Given the description of an element on the screen output the (x, y) to click on. 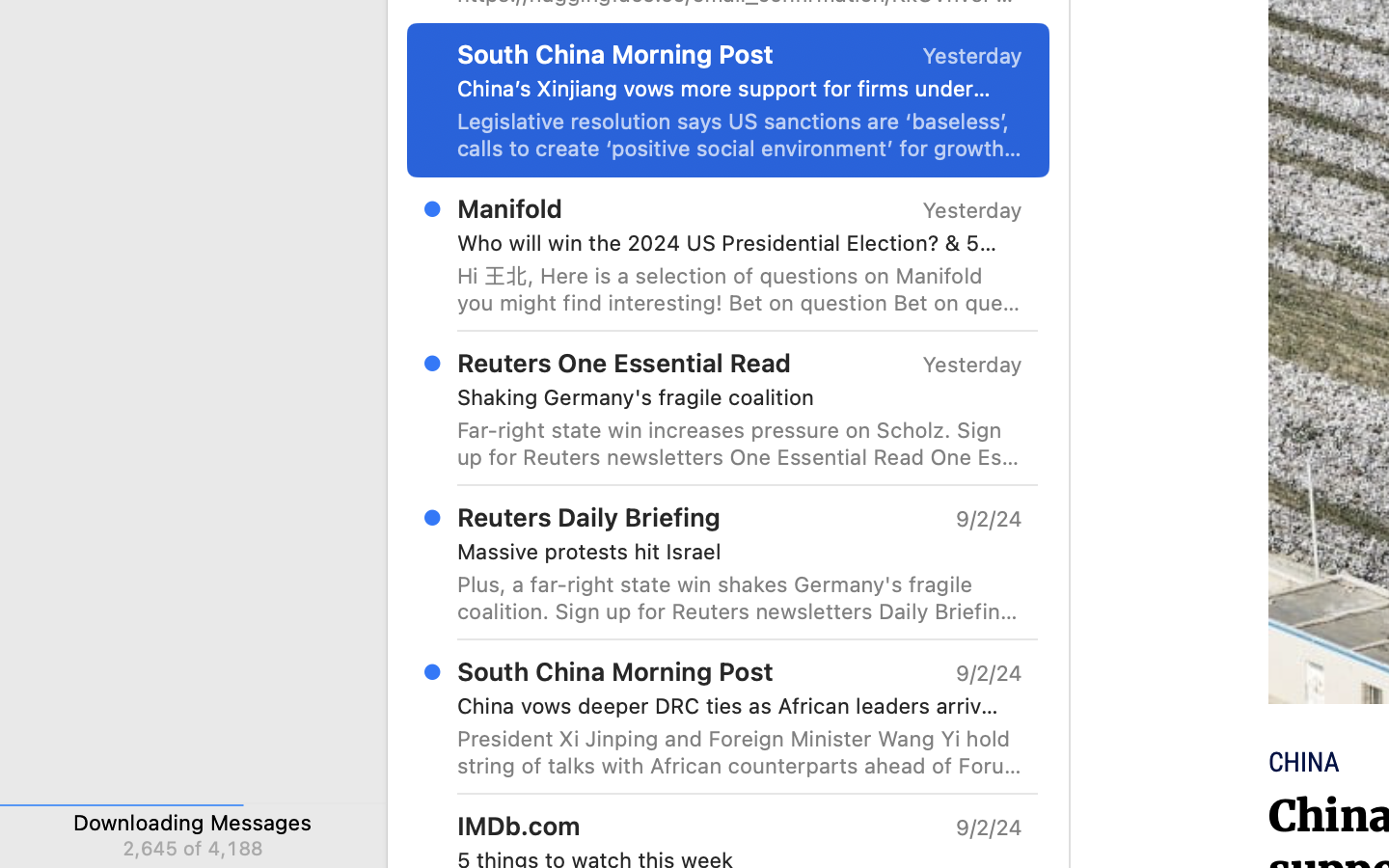
CHINA Element type: AXStaticText (1303, 762)
Legislative resolution says US sanctions are ‘baseless’, calls to create ‘positive social environment’ for growth of businesses targeted. - South China Morning Post, SCMP, SCMP Today: Intl Edition - Legislative resolution says US sanctions are ‘baseless’, calls to create ‘positive social environment’ for growth of businesses targeted. Tuesday 3rd September, 2024 China politics & diplomacy ChinaChina’s Xinjiang vows more support for firms under US ‘forced labour’ sanctions3 Sep, 2024 - 04:36 pmLegislative resolution says US sanctions are ‘baseless’, calls to create ‘positive social environment’ for growth of businesses targeted. China11 dead in eastern China, driver detained after bus hits crowd outside school3 Sep, 2024 - 04:43 pm ChinaChinese researchers’ implant genetically modifies brain cells for neuron growth3 Sep, 2024 - 04:06 pm Featured Podcast3. Millennials, GenZ and hire education Video Of The Day China and Singapore embark on bigger joint navy exercise as South China Sea ten Element type: AXStaticText (739, 135)
Downloading Messages Element type: AXStaticText (192, 821)
China’s Xinjiang vows more support for firms under US ‘forced labour’ sanctions Element type: AXStaticText (731, 88)
China vows deeper DRC ties as African leaders arrive for FOCAC meetings Element type: AXStaticText (731, 705)
